Given the description of an element on the screen output the (x, y) to click on. 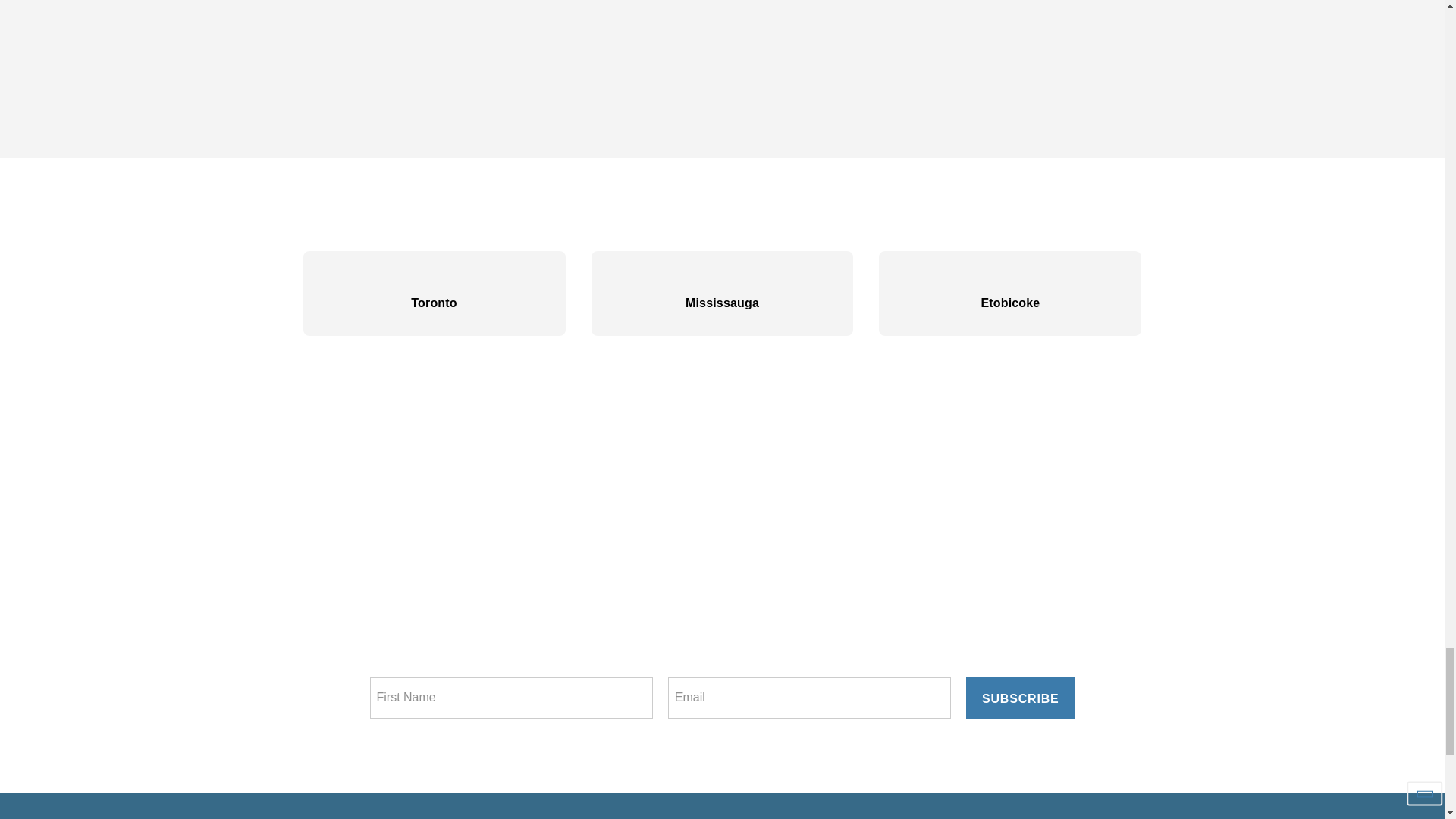
Subscribe (1020, 697)
Mississauga (722, 292)
Etobicoke (1009, 292)
Toronto (434, 292)
Subscribe (1020, 697)
